Given the description of an element on the screen output the (x, y) to click on. 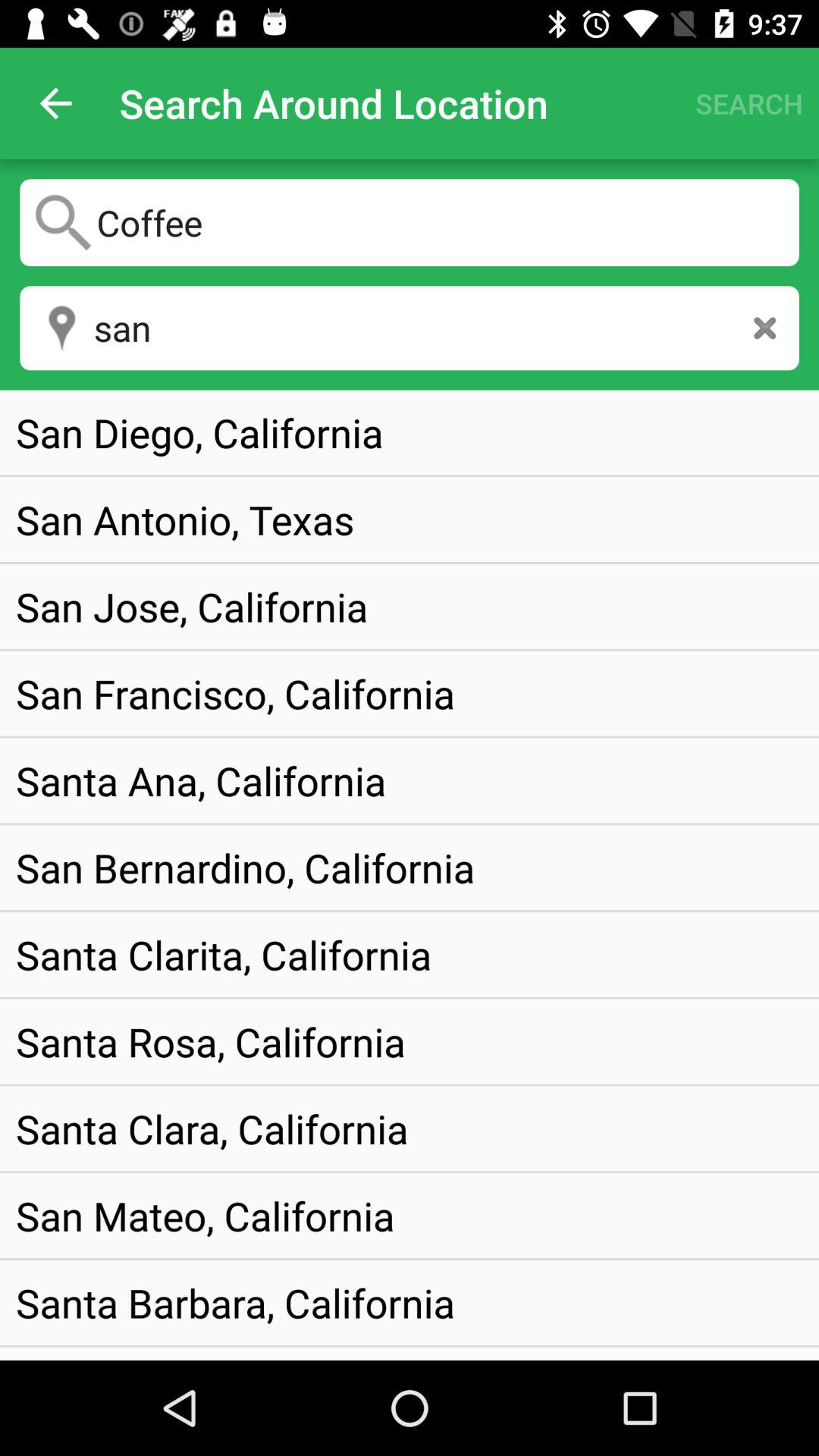
turn off the icon above the santa rosa, california (223, 954)
